Given the description of an element on the screen output the (x, y) to click on. 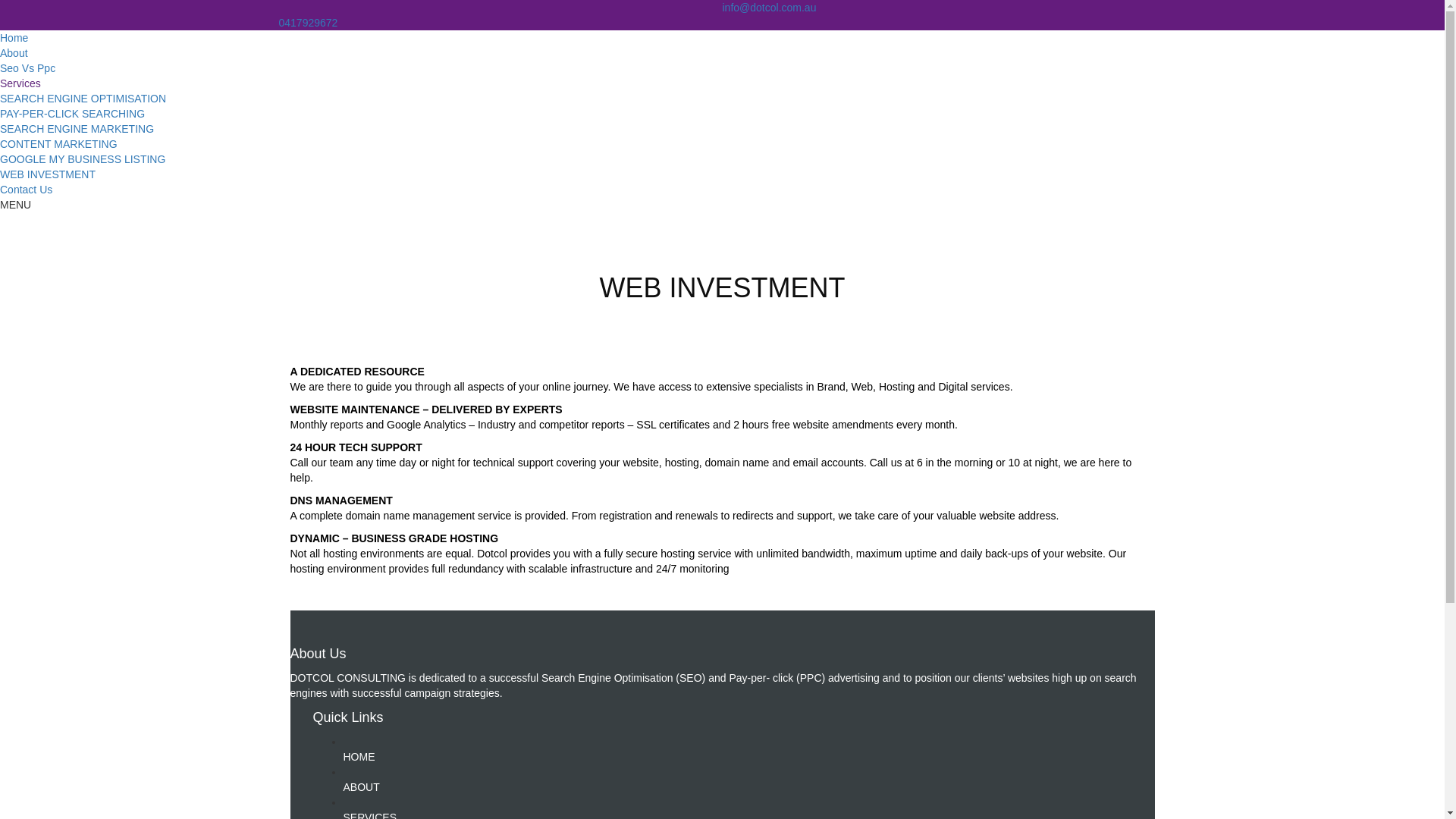
Services Element type: text (20, 83)
0417929672 Element type: text (308, 22)
info@dotcol.com.au Element type: text (768, 7)
HOME Element type: text (358, 756)
CONTENT MARKETING Element type: text (58, 144)
About Element type: text (14, 53)
WEB INVESTMENT Element type: text (47, 174)
Seo Vs Ppc Element type: text (27, 68)
Contact Us Element type: text (26, 189)
GOOGLE MY BUSINESS LISTING Element type: text (82, 159)
SEARCH ENGINE OPTIMISATION Element type: text (83, 98)
SEARCH ENGINE MARKETING Element type: text (76, 128)
Home Element type: text (14, 37)
ABOUT Element type: text (360, 787)
PAY-PER-CLICK SEARCHING Element type: text (72, 113)
